Given the description of an element on the screen output the (x, y) to click on. 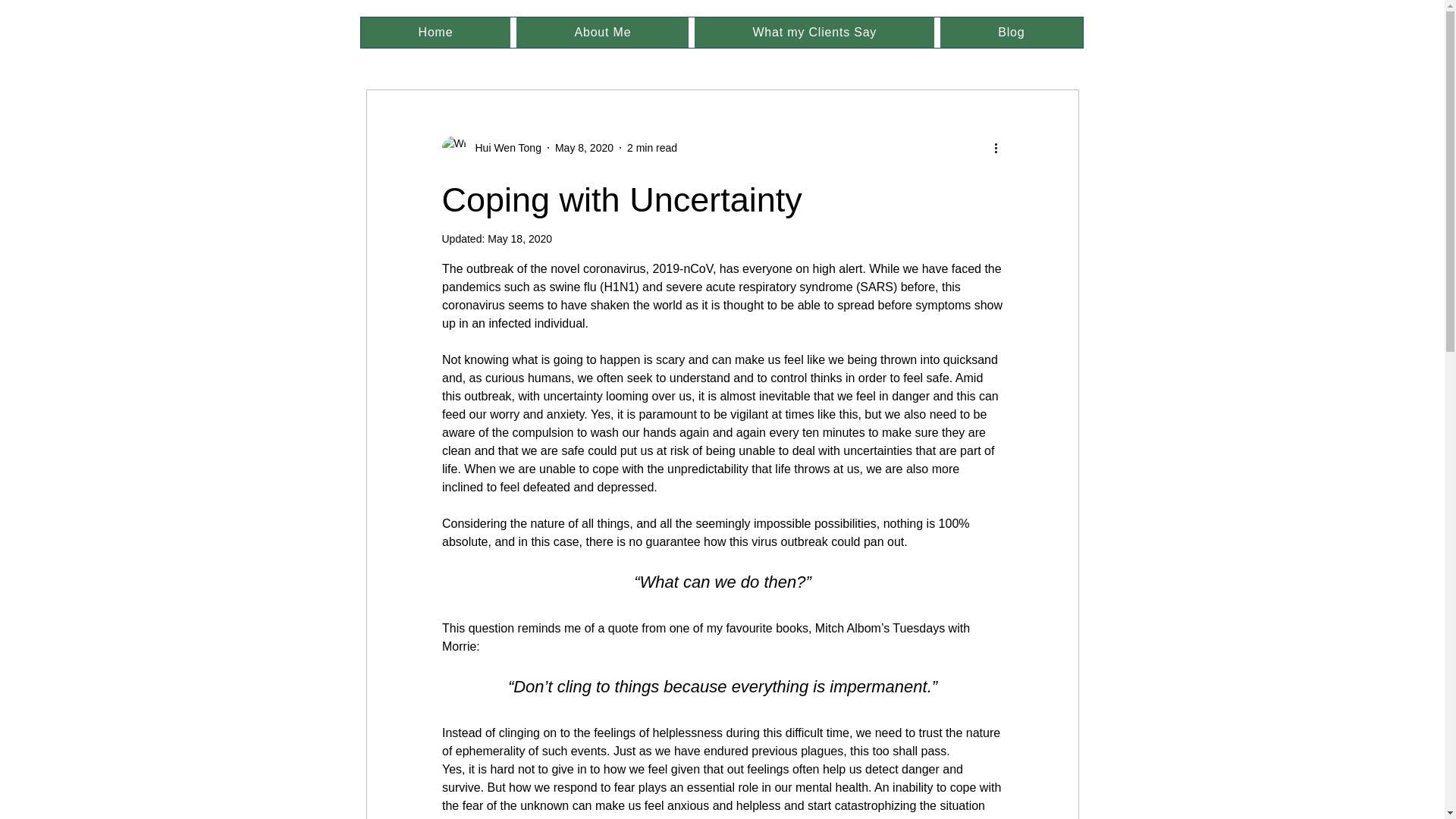
Hui Wen Tong (490, 147)
May 8, 2020 (583, 146)
May 18, 2020 (519, 238)
Hui Wen Tong (502, 147)
Blog (1010, 32)
2 min read (652, 146)
About Me (602, 32)
Home (436, 32)
What my Clients Say (814, 32)
